Given the description of an element on the screen output the (x, y) to click on. 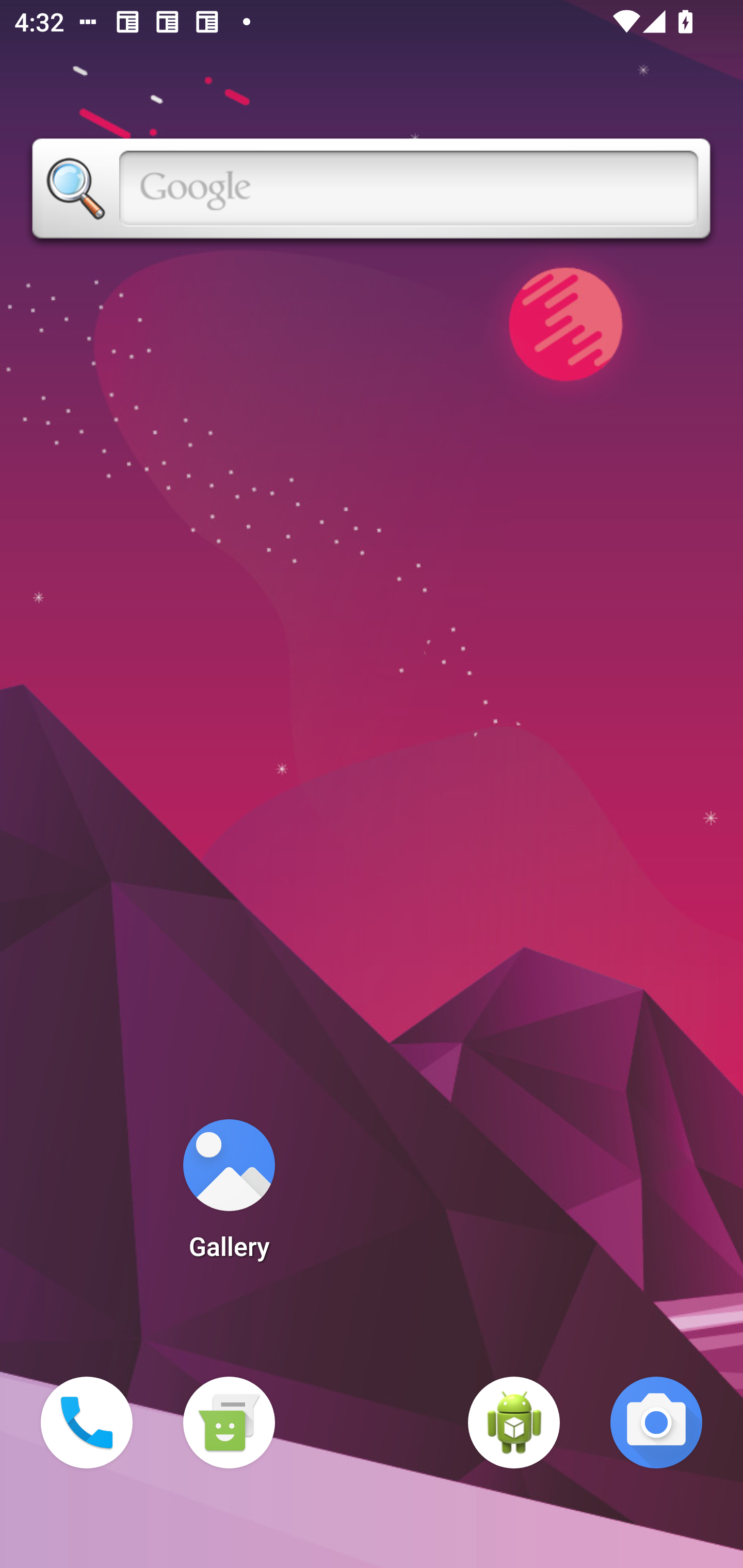
Gallery (228, 1195)
Phone (86, 1422)
Messaging (228, 1422)
WebView Browser Tester (513, 1422)
Camera (656, 1422)
